Given the description of an element on the screen output the (x, y) to click on. 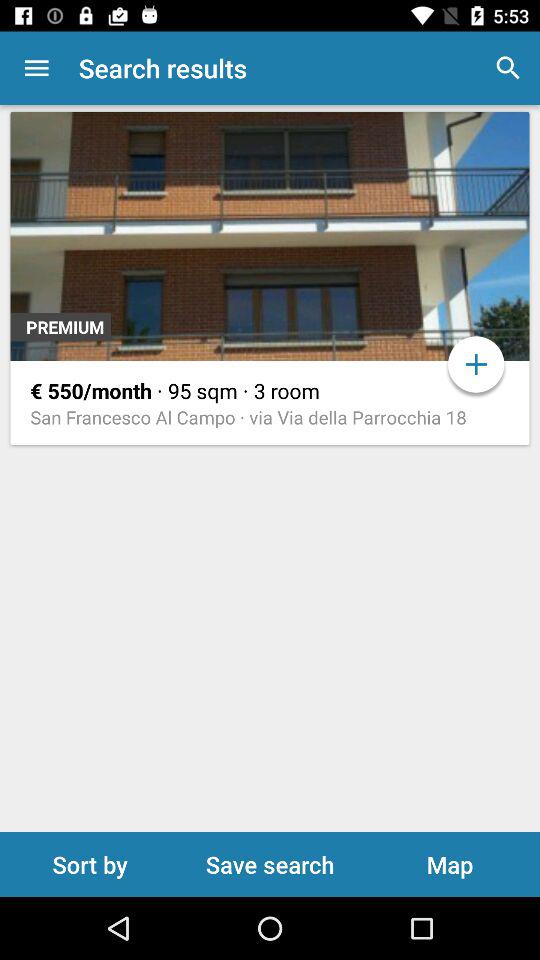
tap save search (270, 863)
